Given the description of an element on the screen output the (x, y) to click on. 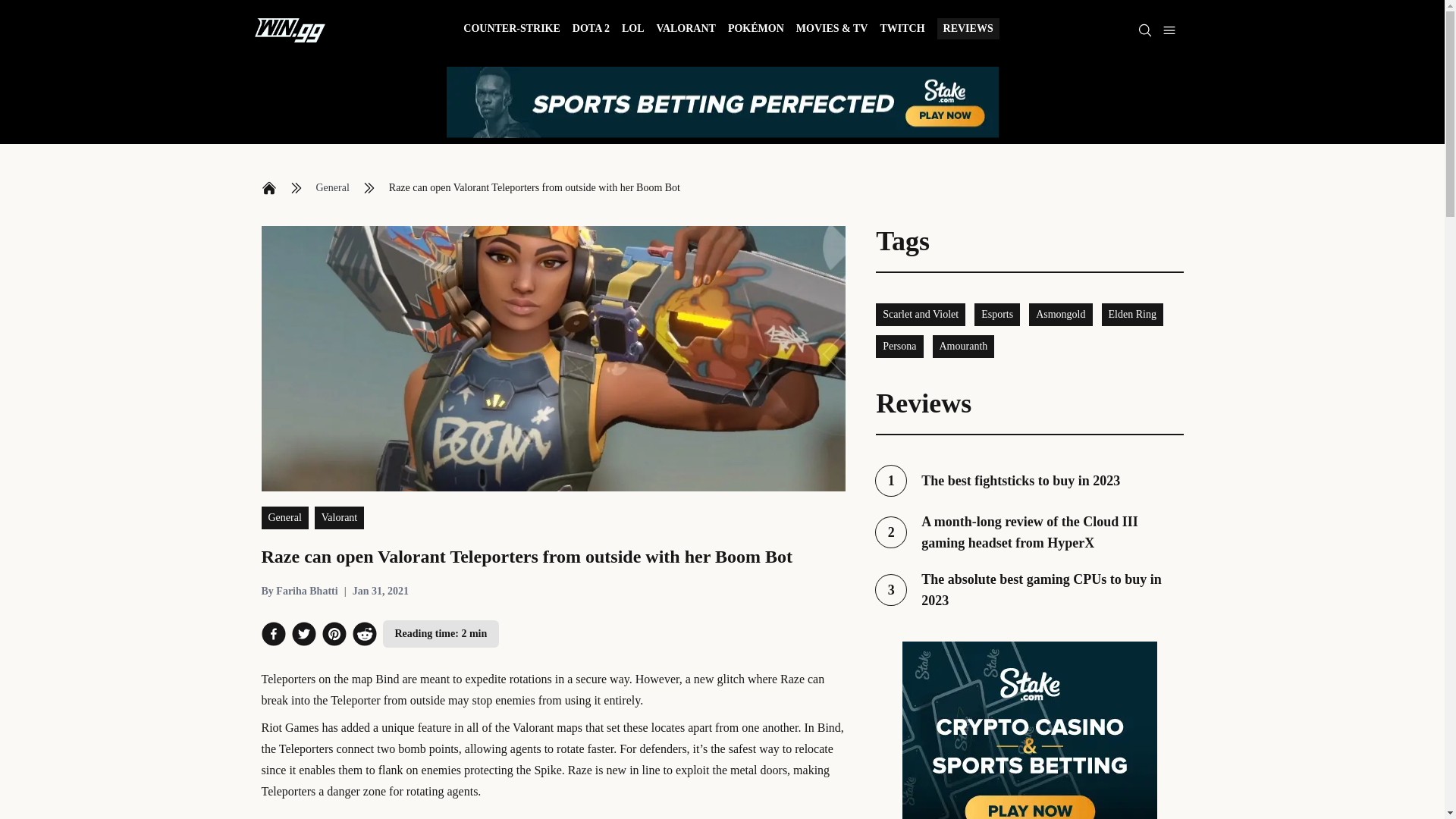
REVIEWS (967, 28)
Amouranth (963, 345)
Esports (997, 314)
Asmongold (1029, 589)
VALORANT (1060, 314)
General (686, 30)
Elden Ring (332, 187)
Home (1029, 481)
Persona (1130, 314)
TWITCH (268, 187)
